Given the description of an element on the screen output the (x, y) to click on. 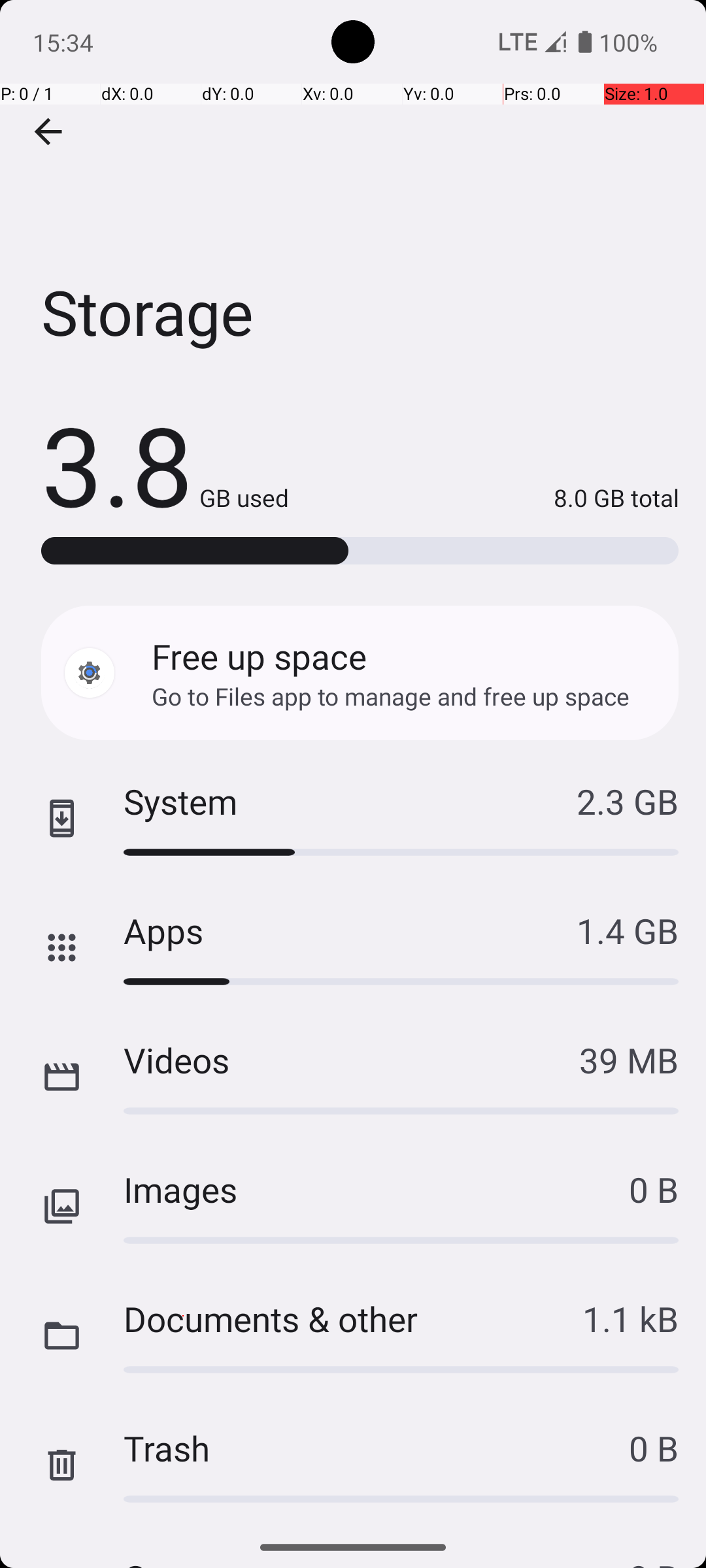
3.8 GB used Element type: android.widget.TextView (164, 463)
2.3 GB Element type: android.widget.TextView (627, 801)
1.4 GB Element type: android.widget.TextView (627, 930)
39 MB Element type: android.widget.TextView (628, 1059)
1.1 kB Element type: android.widget.TextView (630, 1318)
